Given the description of an element on the screen output the (x, y) to click on. 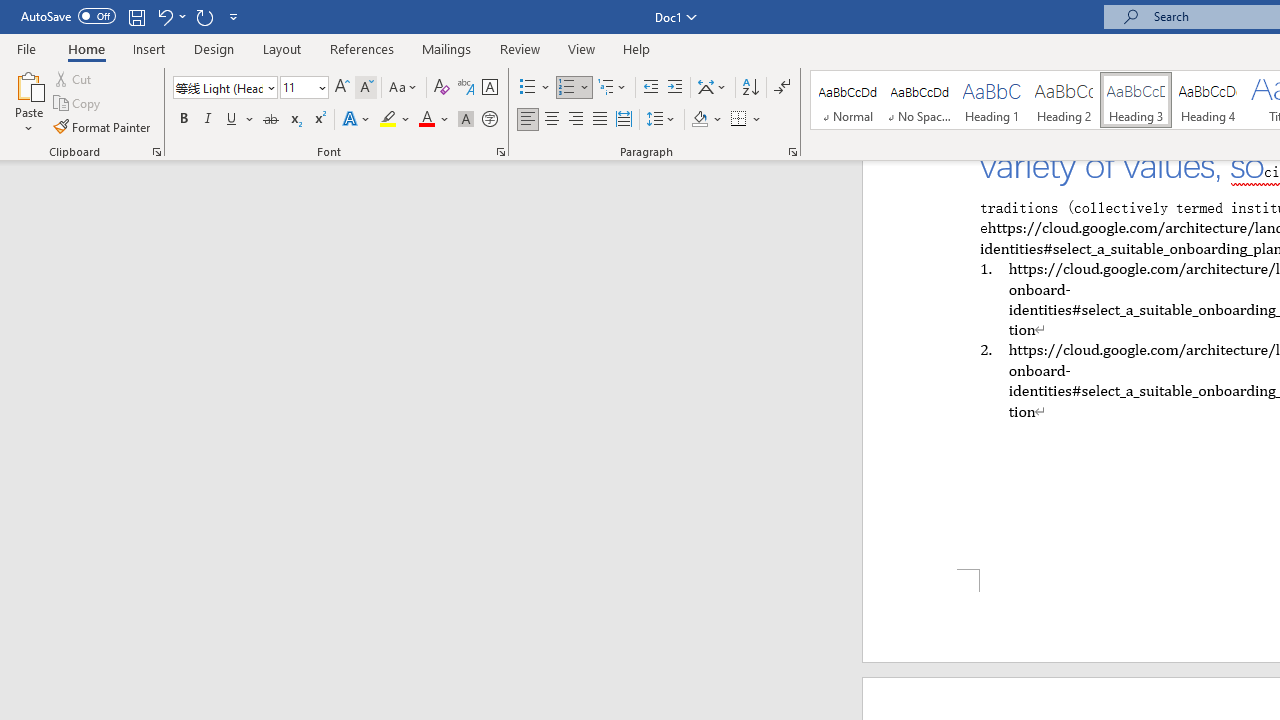
Shading (706, 119)
Repeat Shrink Font (204, 15)
Heading 4 (1208, 100)
Center (552, 119)
Text Effects and Typography (357, 119)
Phonetic Guide... (465, 87)
Align Left (527, 119)
Show/Hide Editing Marks (781, 87)
Increase Indent (675, 87)
